Given the description of an element on the screen output the (x, y) to click on. 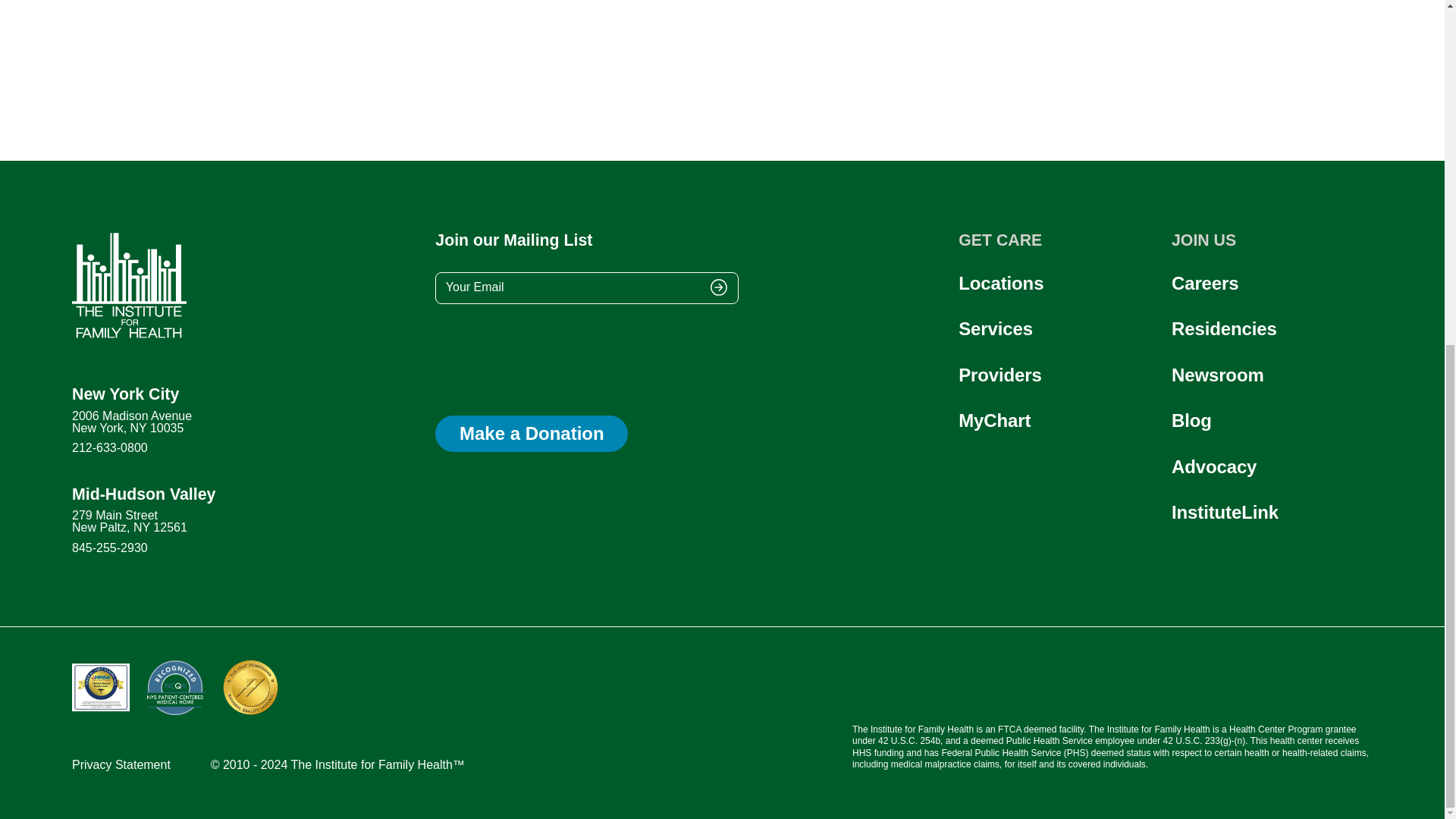
212-633-0800 (109, 447)
Make a Donation (531, 433)
Residencies (1224, 328)
MyChart (994, 420)
InstituteLink (143, 520)
845-255-2930 (1225, 512)
Providers (109, 547)
Advocacy (1000, 374)
Privacy Statement (1214, 466)
Locations (120, 765)
Newsroom (1000, 282)
Services (1217, 374)
Careers (995, 328)
